Given the description of an element on the screen output the (x, y) to click on. 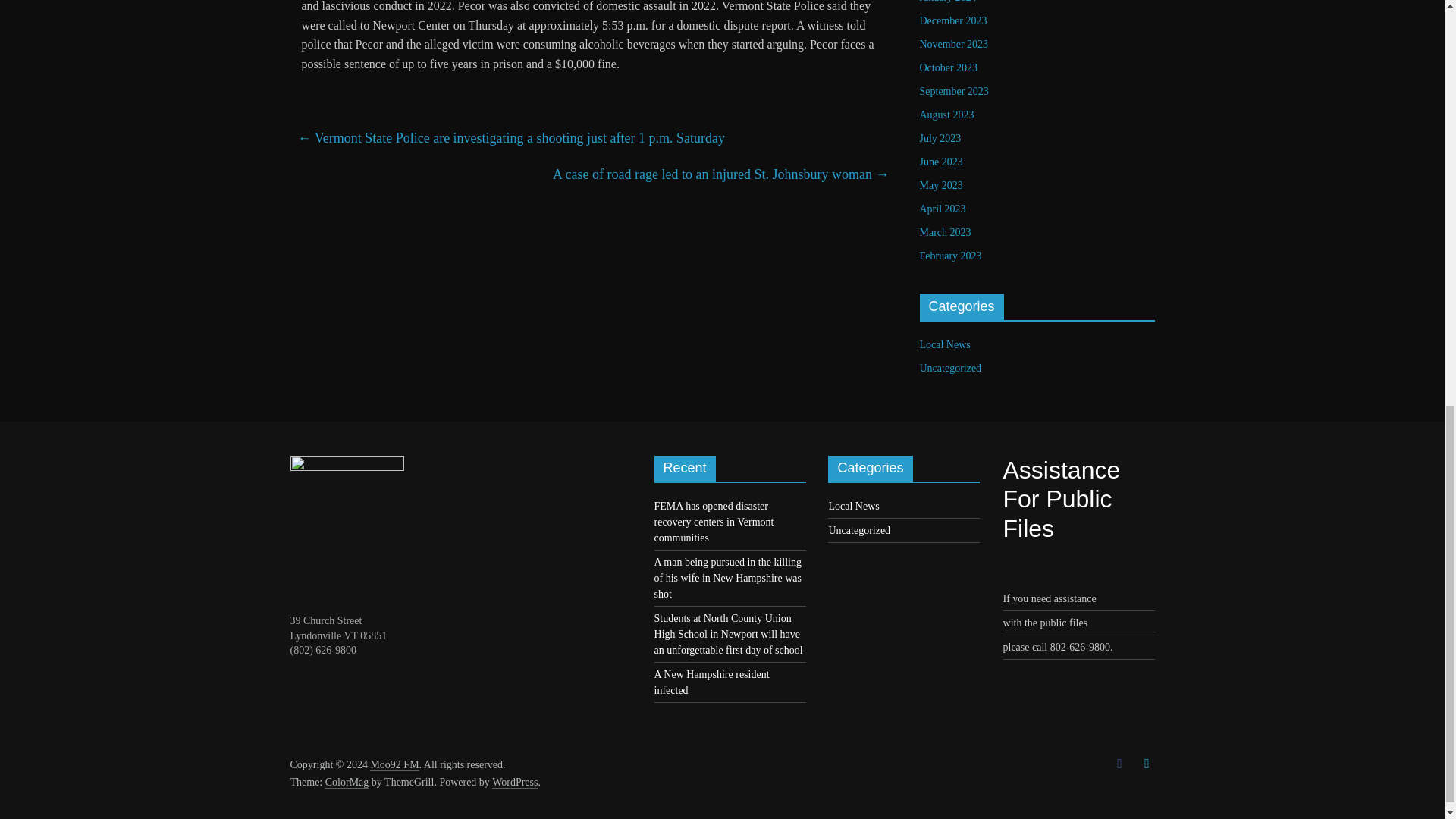
ColorMag (346, 782)
Moo92 FM (394, 765)
WordPress (514, 782)
